Given the description of an element on the screen output the (x, y) to click on. 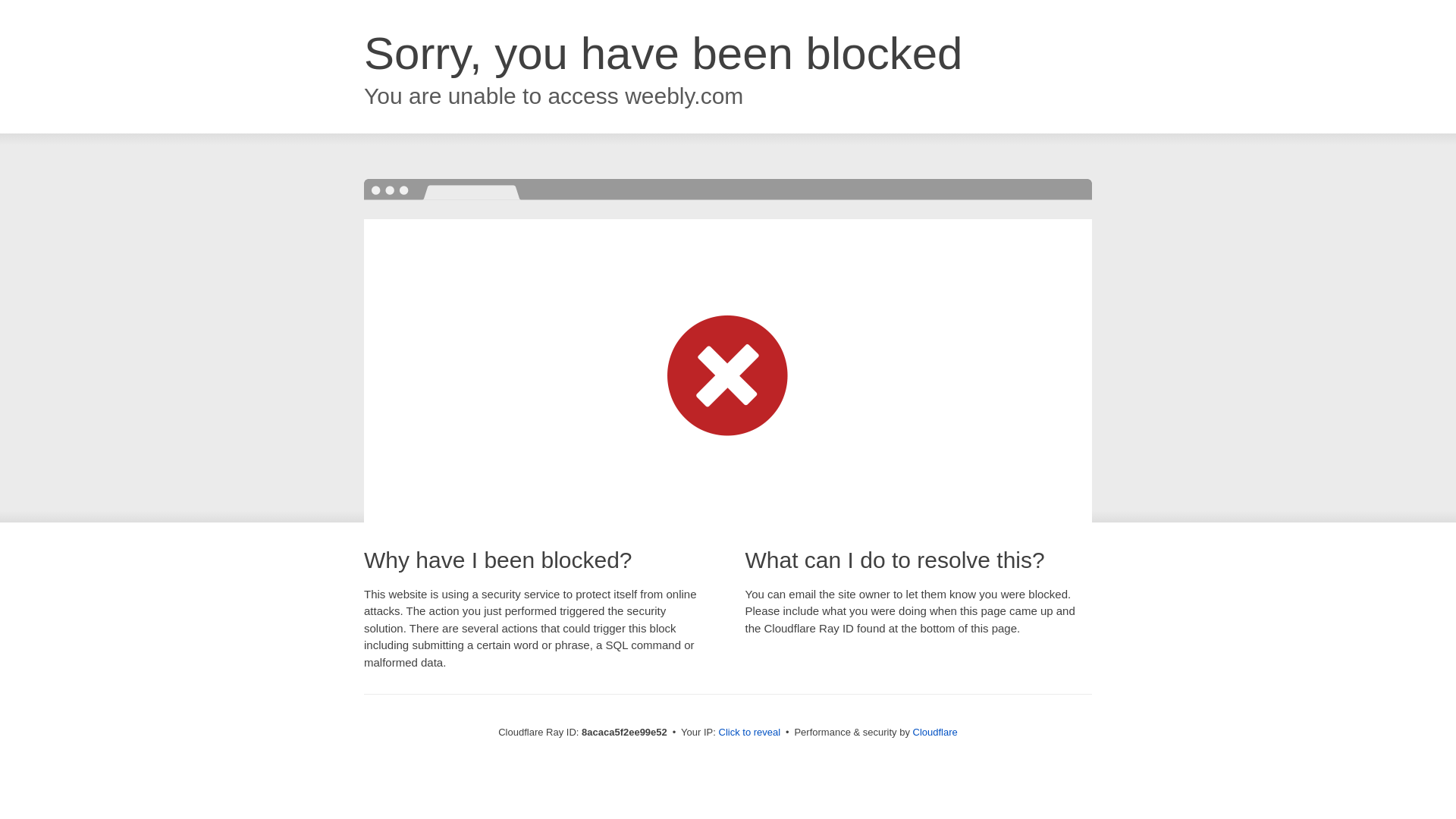
Click to reveal (749, 732)
Cloudflare (935, 731)
